Given the description of an element on the screen output the (x, y) to click on. 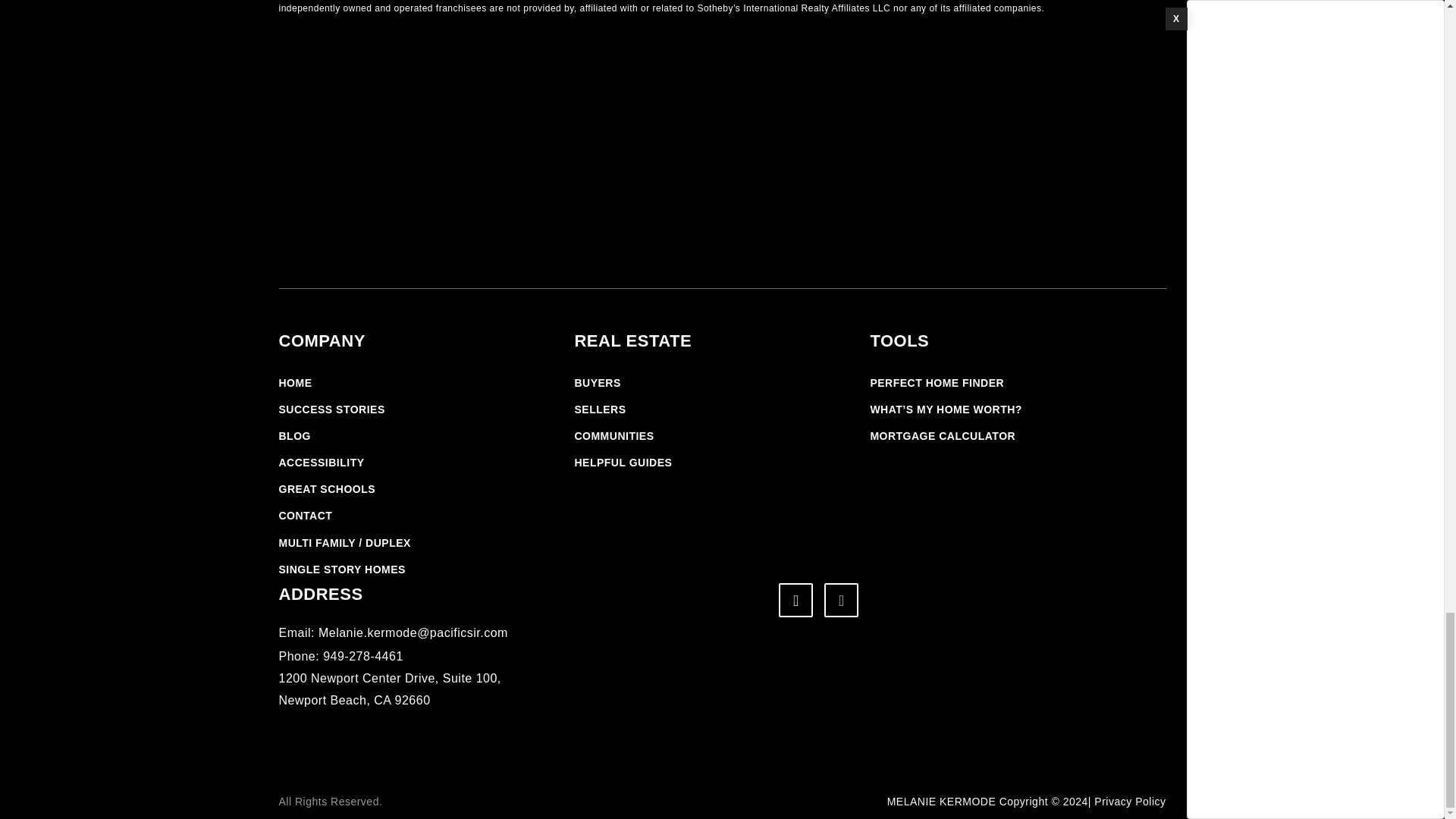
coasthomesandcondos Phone (341, 656)
 Facebook Page (795, 600)
 Linkedin Profile (841, 600)
